Given the description of an element on the screen output the (x, y) to click on. 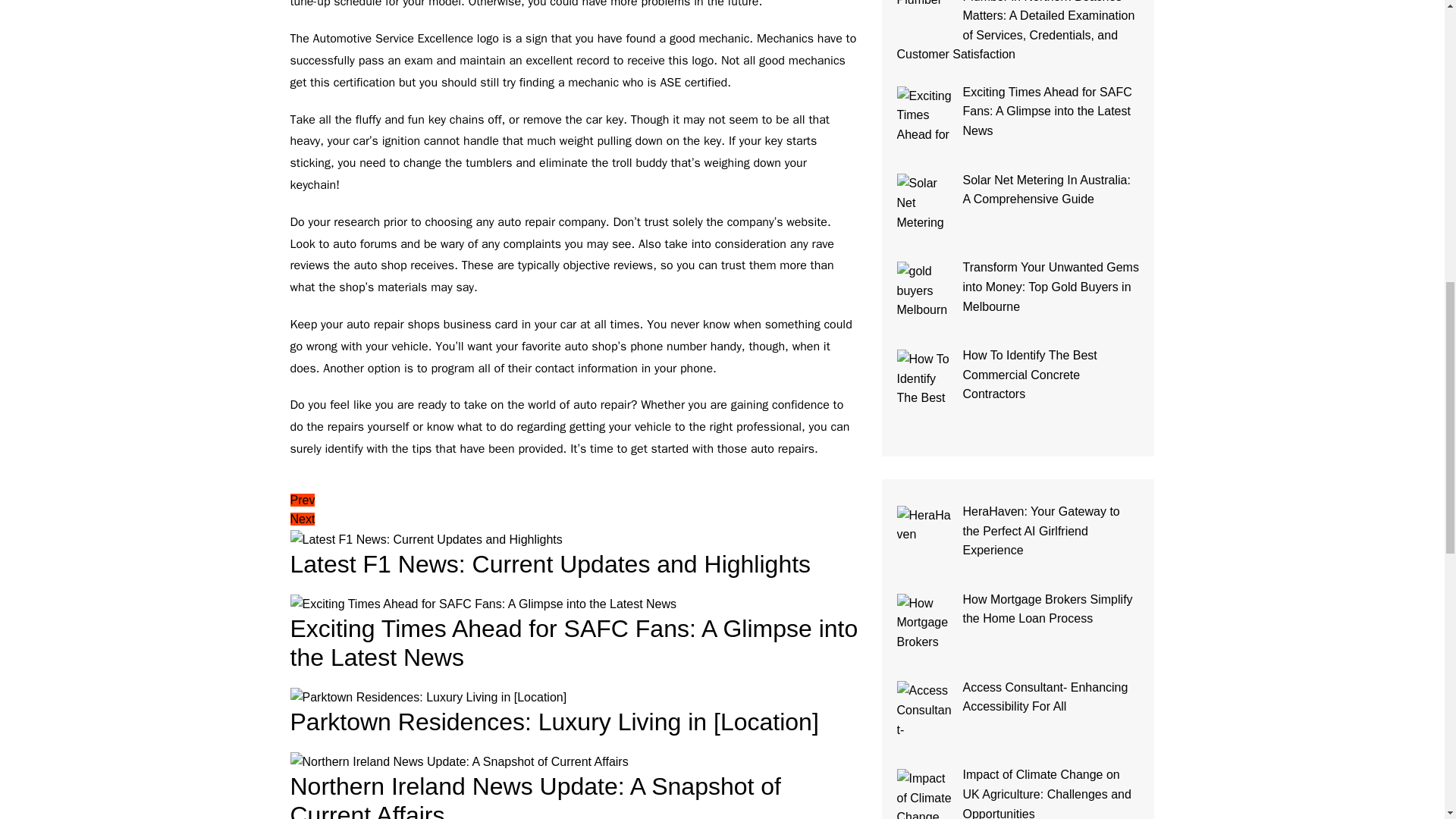
Gas Plumber (924, 13)
Next (301, 518)
Solar Net Metering In Australia: A Comprehensive Guide (924, 201)
gold buyers Melbourne (924, 289)
Latest F1 News: Current Updates and Highlights (425, 539)
Prev (301, 499)
Latest F1 News: Current Updates and Highlights (549, 564)
HeraHaven (924, 534)
How To Identify The Best Commercial Concrete Contractors (924, 377)
Northern Ireland News Update: A Snapshot of Current Affairs (458, 762)
